Given the description of an element on the screen output the (x, y) to click on. 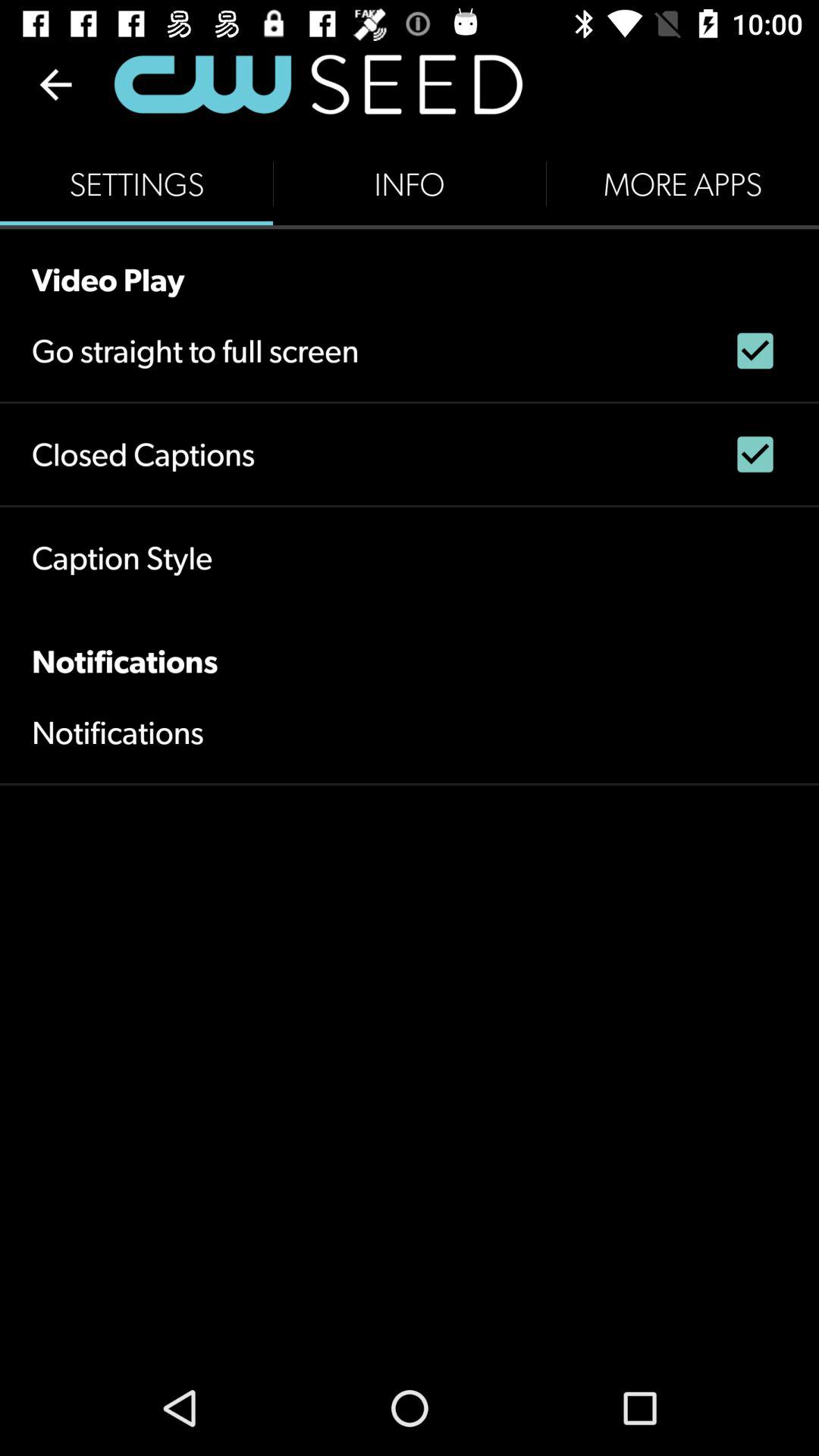
click settings (136, 184)
